Given the description of an element on the screen output the (x, y) to click on. 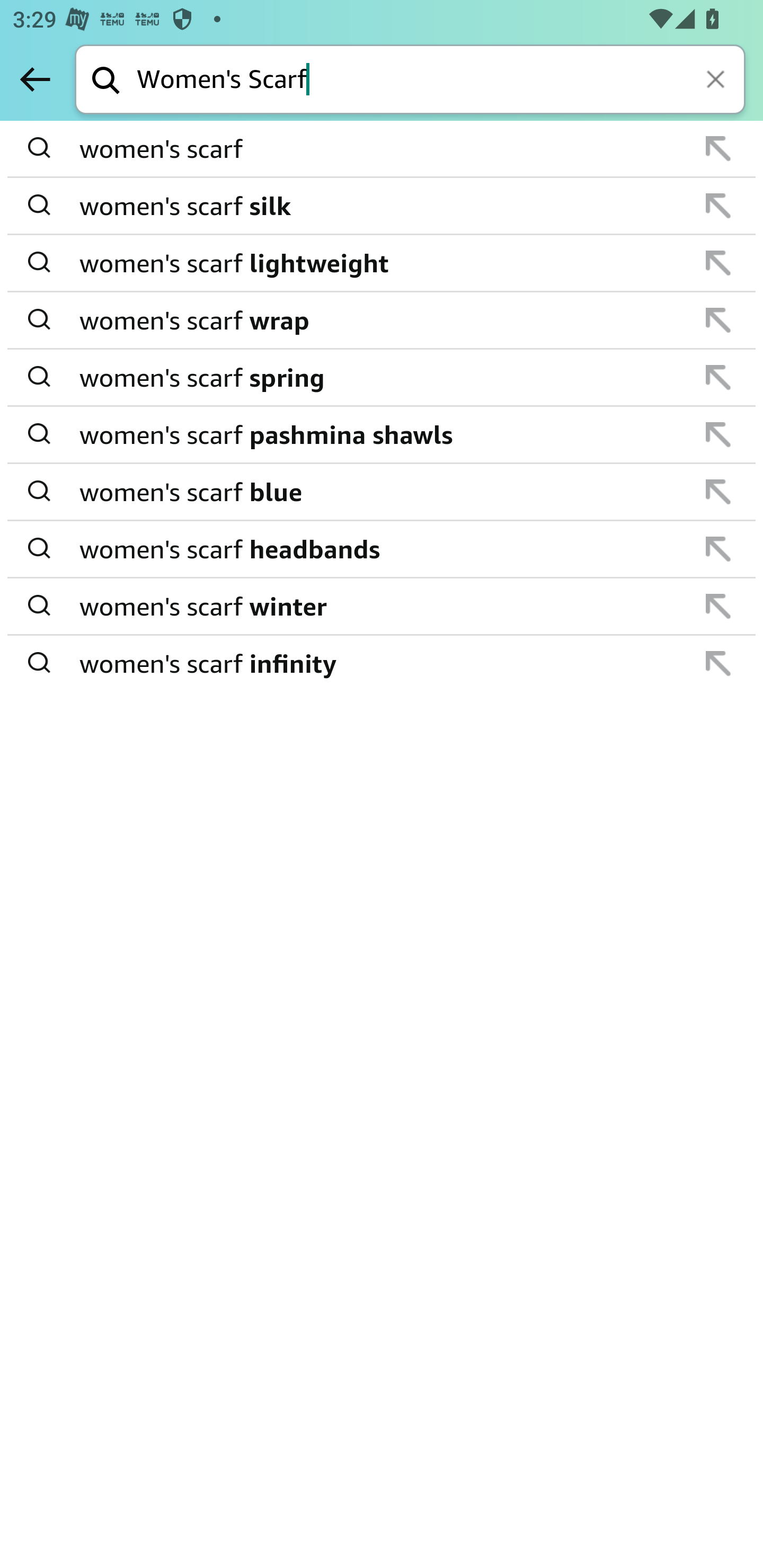
Women's Scarf (440, 80)
Clear search keywords (717, 80)
Back (35, 78)
append suggestion women's scarf (381, 149)
women's scarf (382, 149)
append suggestion (718, 147)
women's scarf silk (382, 205)
append suggestion women's scarf silk (381, 206)
append suggestion (718, 205)
women's scarf lightweight (382, 262)
append suggestion women's scarf lightweight (381, 263)
append suggestion (718, 262)
women's scarf wrap (382, 319)
append suggestion women's scarf wrap (381, 320)
append suggestion (718, 319)
women's scarf spring (382, 377)
append suggestion women's scarf spring (381, 377)
append suggestion (718, 376)
women's scarf pashmina shawls (382, 434)
append suggestion women's scarf pashmina shawls (381, 435)
append suggestion (718, 434)
women's scarf blue (382, 491)
append suggestion women's scarf blue (381, 492)
append suggestion (718, 491)
women's scarf headbands (382, 548)
append suggestion women's scarf headbands (381, 549)
append suggestion (718, 548)
women's scarf winter (382, 606)
append suggestion women's scarf winter (381, 606)
append suggestion (718, 605)
women's scarf infinity (382, 662)
append suggestion women's scarf infinity (381, 663)
append suggestion (718, 663)
